Given the description of an element on the screen output the (x, y) to click on. 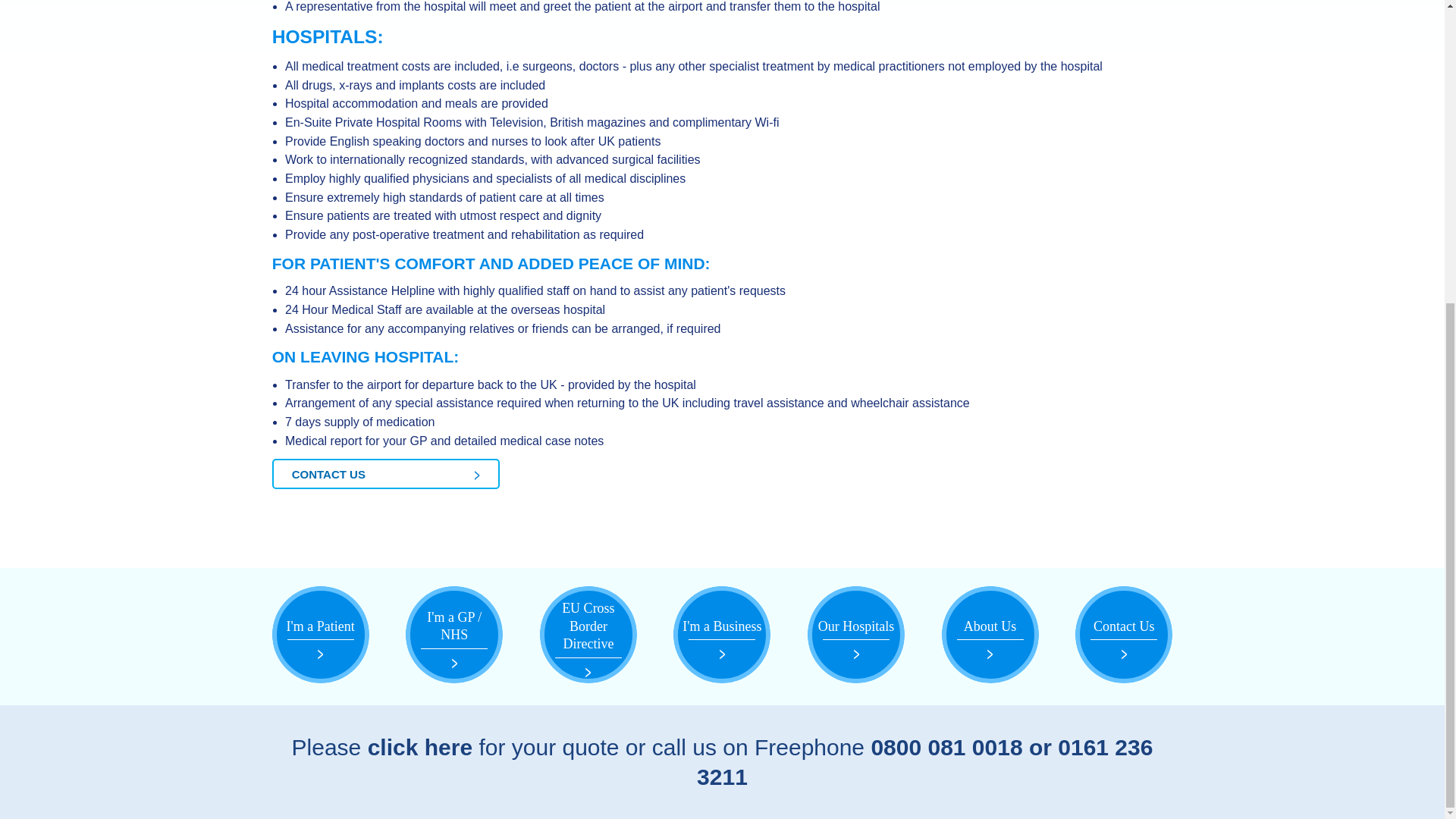
Patient Quotation (419, 747)
